Given the description of an element on the screen output the (x, y) to click on. 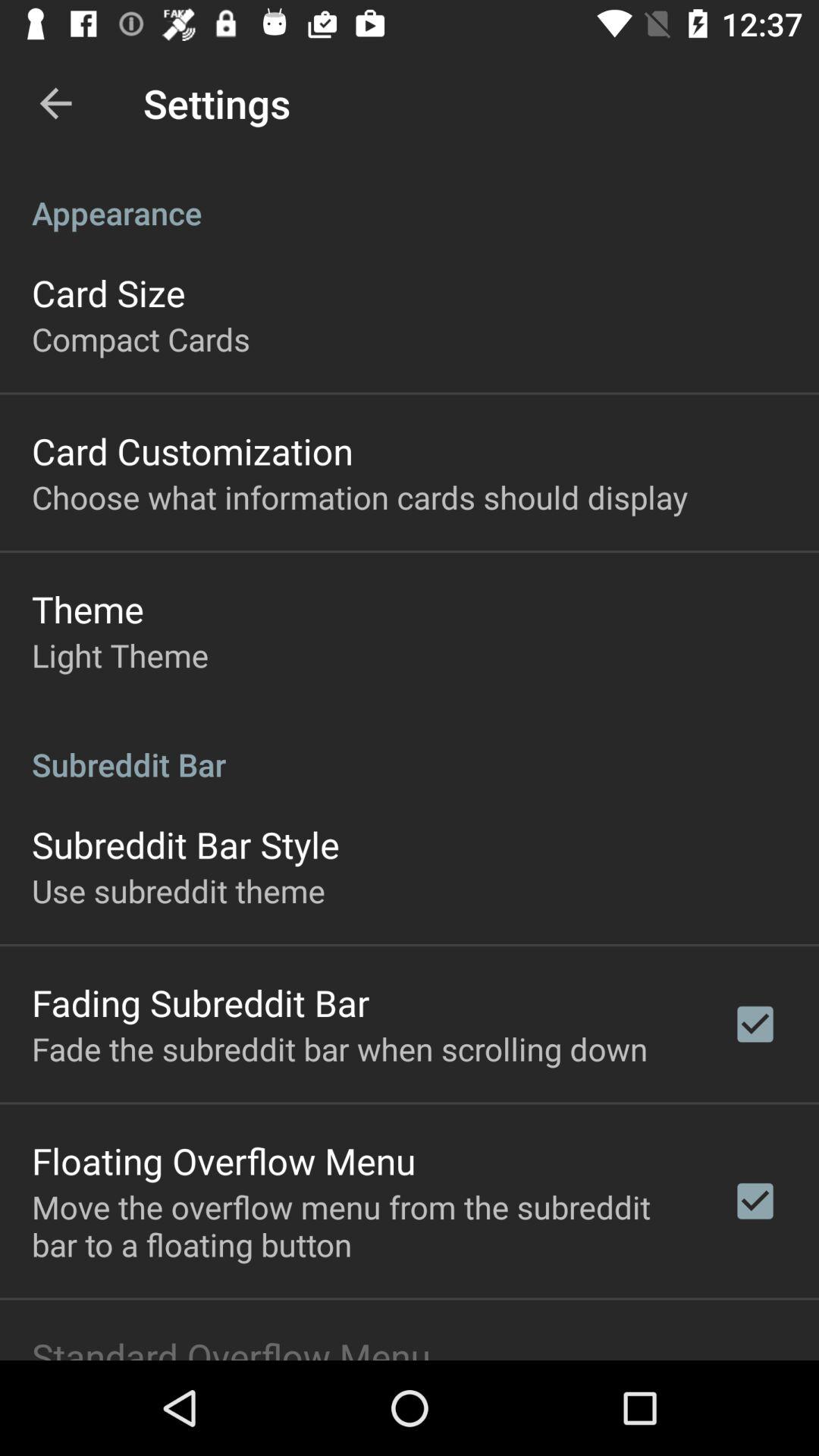
select item below the card customization icon (359, 496)
